Given the description of an element on the screen output the (x, y) to click on. 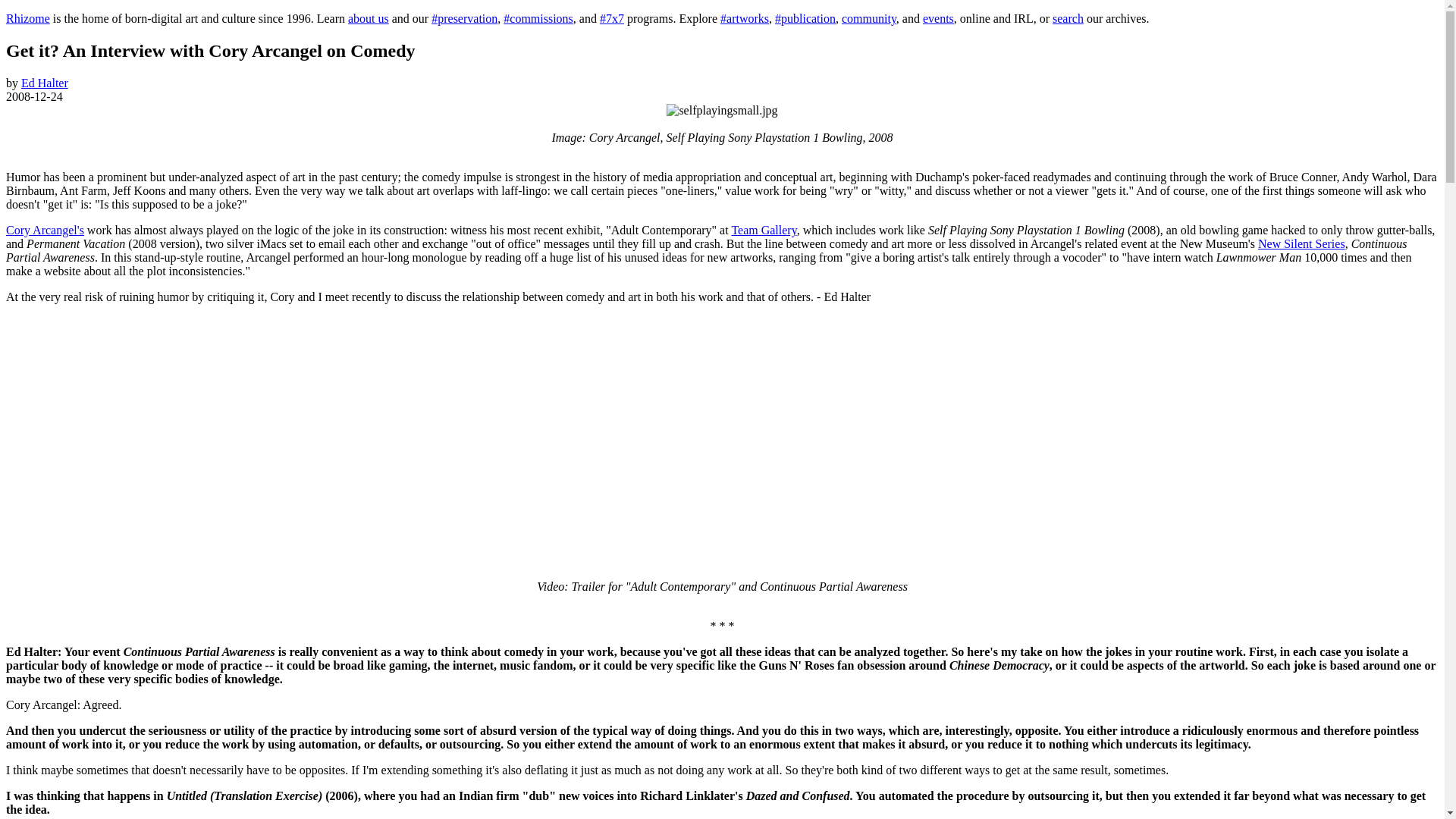
community (868, 18)
about us (367, 18)
search (1067, 18)
Team Gallery (763, 229)
New Silent Series (1301, 243)
Rhizome (27, 18)
events (938, 18)
Cory Arcangel's (44, 229)
Ed Halter (44, 82)
